Given the description of an element on the screen output the (x, y) to click on. 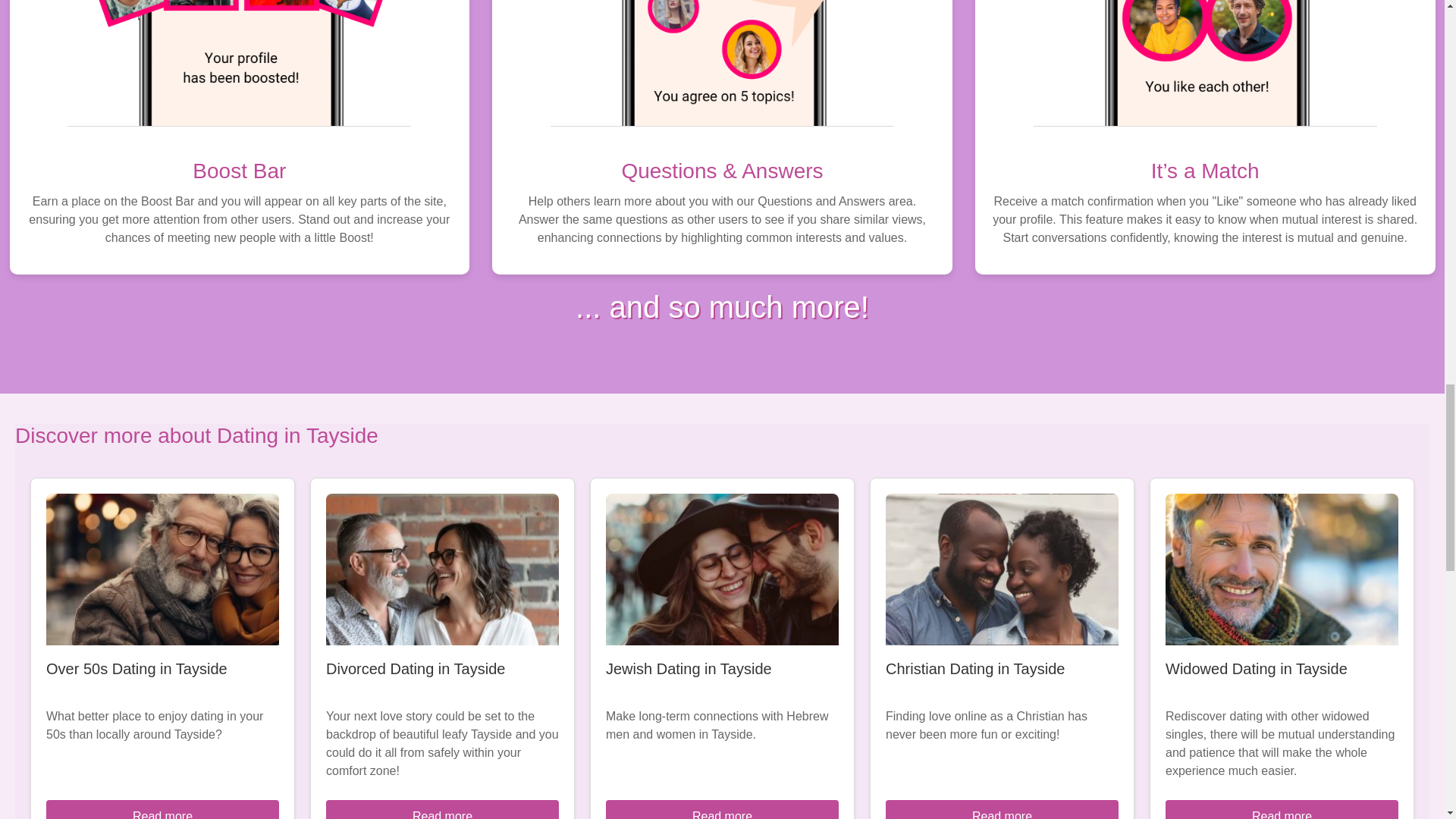
Read more (721, 809)
Read more (442, 809)
Read more (162, 809)
Read more (1001, 809)
Read more (1281, 809)
